Given the description of an element on the screen output the (x, y) to click on. 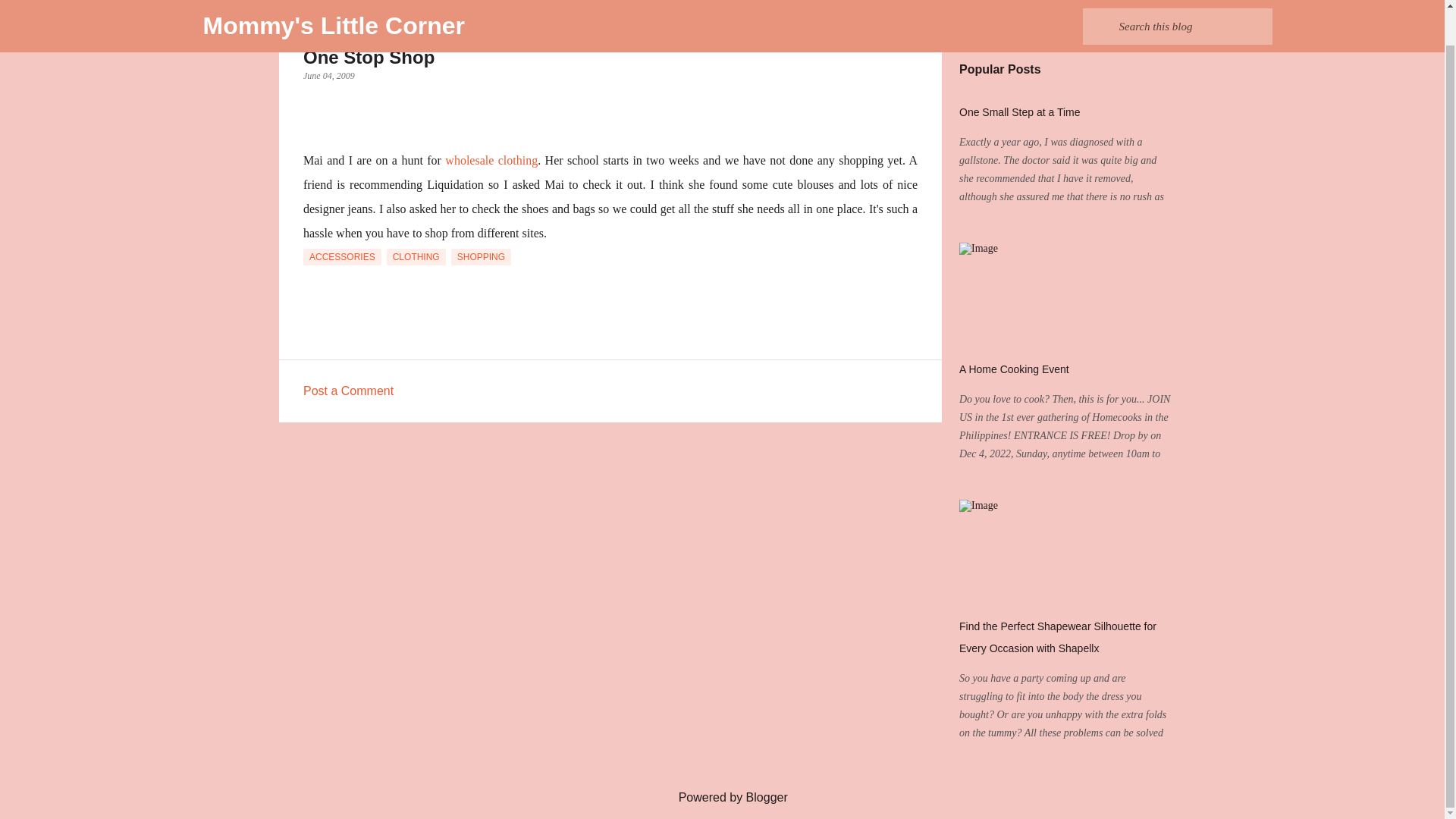
Mommy's Little Corner (333, 1)
wholesale clothing (491, 160)
Powered by Blogger (721, 797)
One Small Step at a Time (1019, 111)
June 04, 2009 (328, 75)
ACCESSORIES (341, 256)
permanent link (328, 75)
A Home Cooking Event (1013, 369)
SHOPPING (481, 256)
CLOTHING (416, 256)
Post a Comment (347, 390)
